Given the description of an element on the screen output the (x, y) to click on. 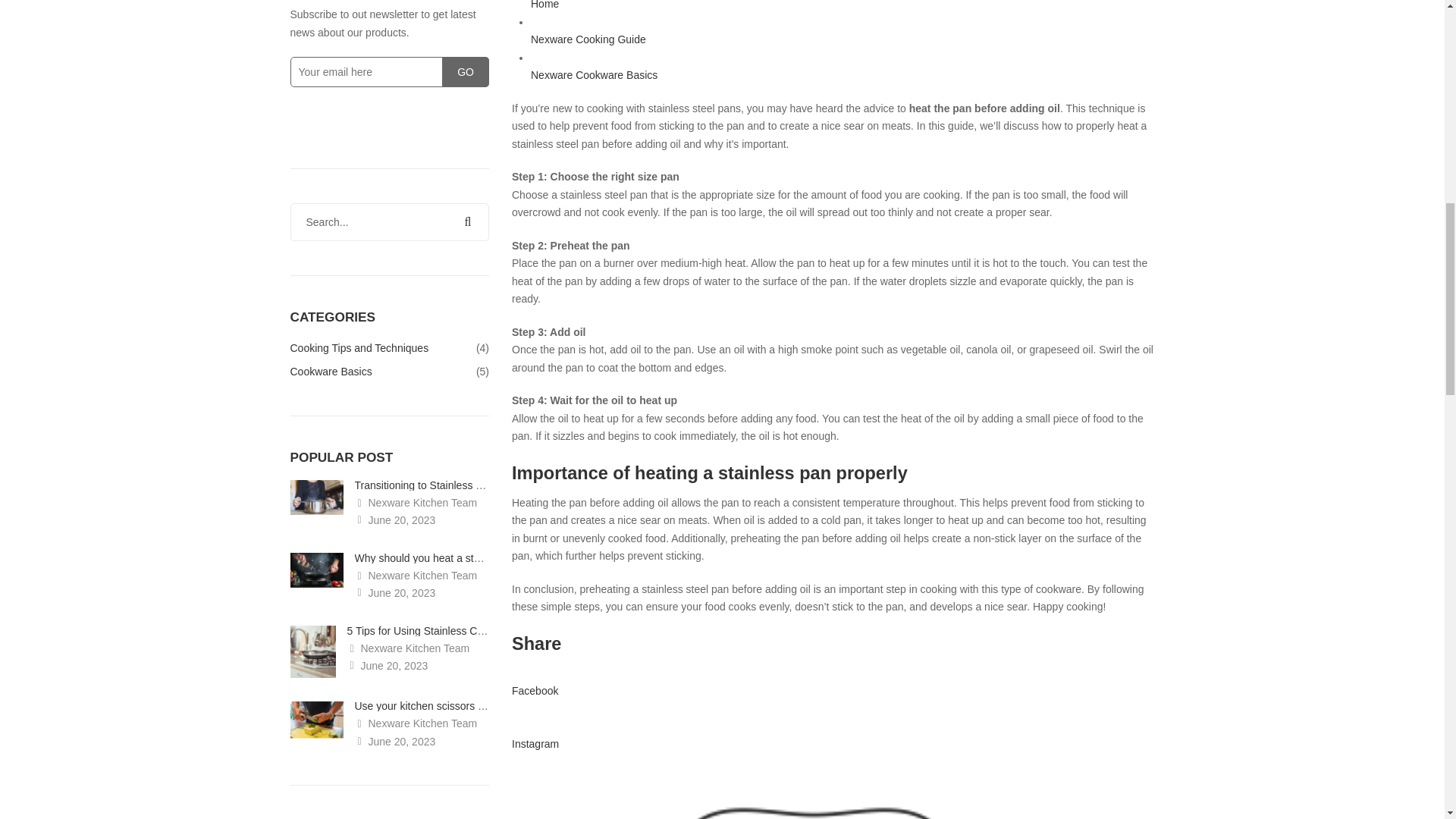
Nexware Kitchen Team (416, 502)
Nexware Kitchen Team (416, 723)
Go (465, 71)
Cooking Tips and Techniques (358, 349)
Go (465, 71)
Why should you heat a stainless pan before adding oil? (484, 558)
Transitioning to Stainless Non Stick Cookware (463, 485)
Search (467, 221)
Nexware Kitchen Team (408, 648)
Cookware Basics (330, 369)
